Given the description of an element on the screen output the (x, y) to click on. 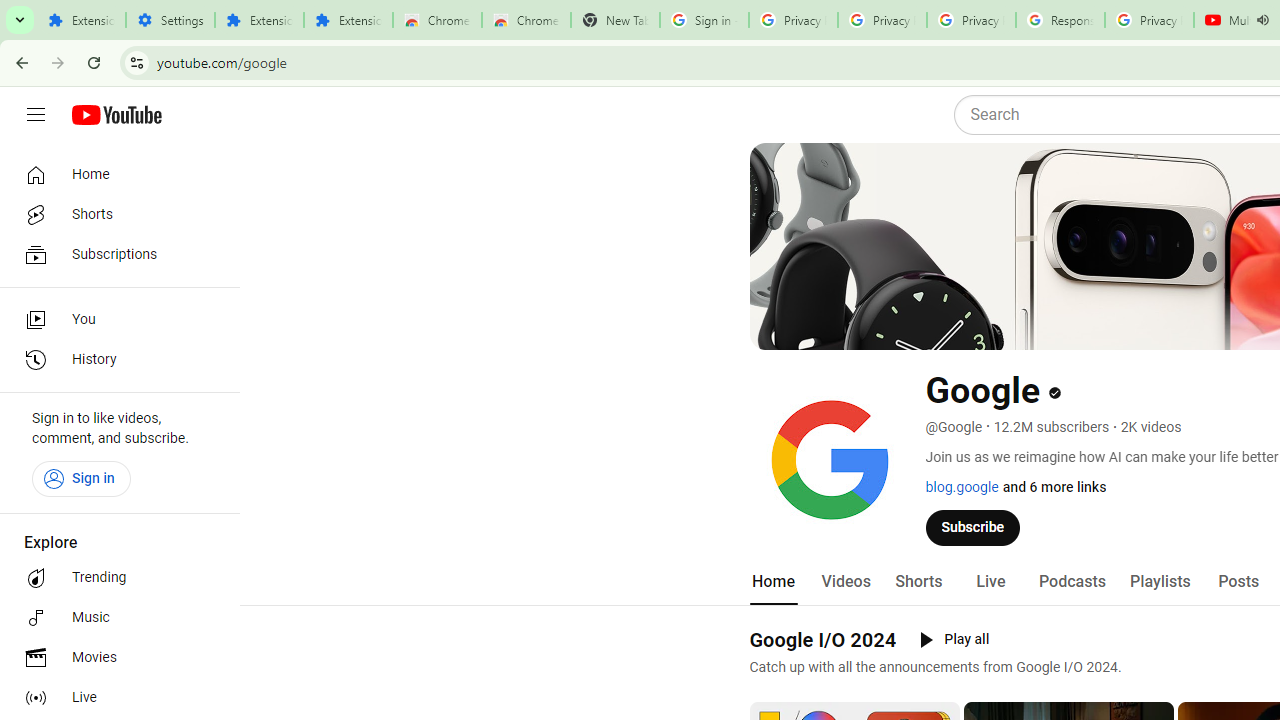
Subscriptions (113, 254)
YouTube Home (116, 115)
Google I/O 2024 (822, 639)
Live (990, 581)
Playlists (1160, 581)
New Tab (615, 20)
Shorts (918, 581)
and 6 more links (1054, 487)
Trending (113, 578)
Extensions (81, 20)
